Given the description of an element on the screen output the (x, y) to click on. 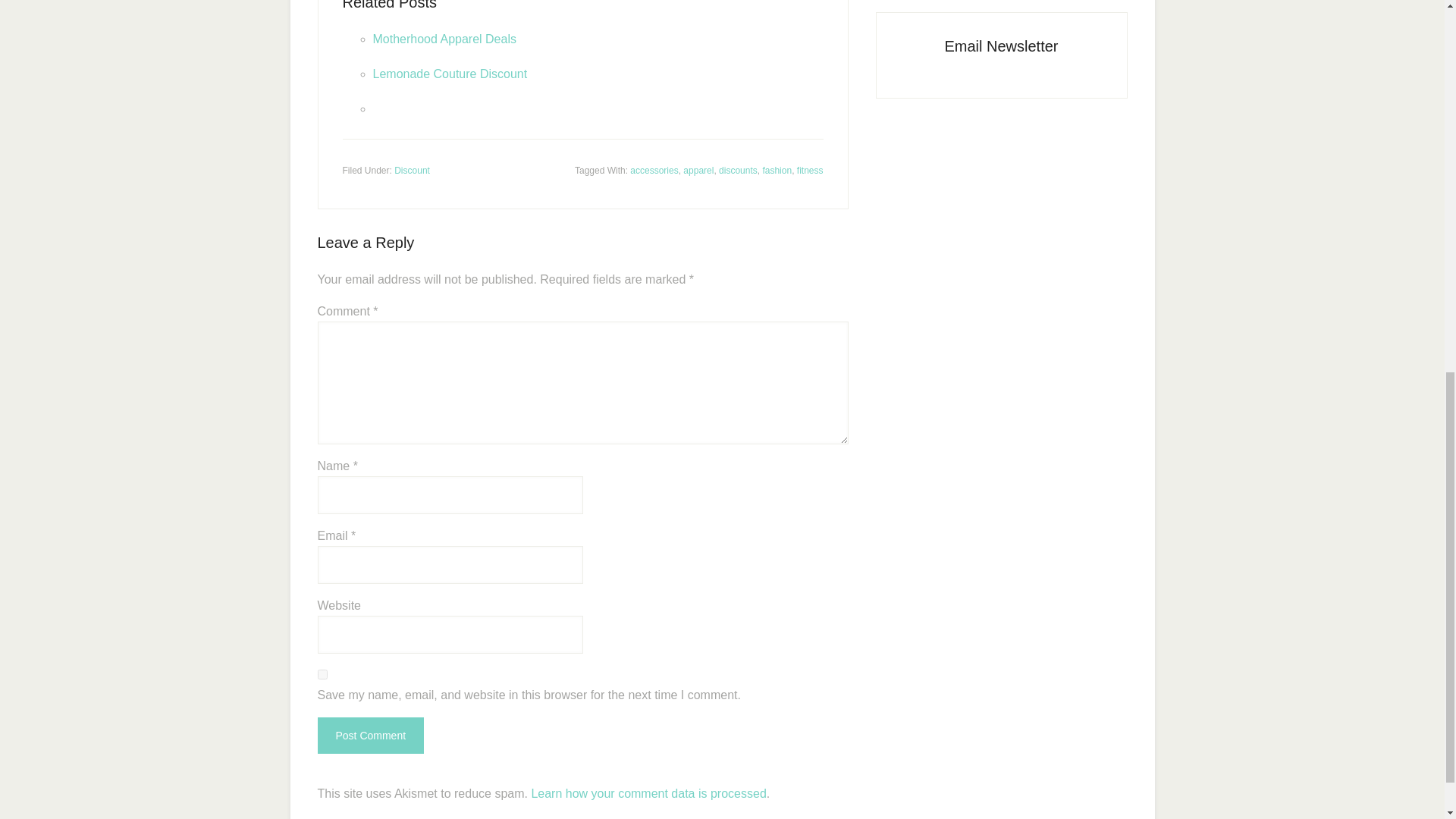
Learn how your comment data is processed (648, 793)
fashion (776, 169)
yes (321, 674)
Post Comment (370, 735)
Lemonade Couture Discount (449, 73)
accessories (654, 169)
Motherhood Apparel Deals (444, 38)
Post Comment (370, 735)
fitness (810, 169)
Discount (411, 169)
